Given the description of an element on the screen output the (x, y) to click on. 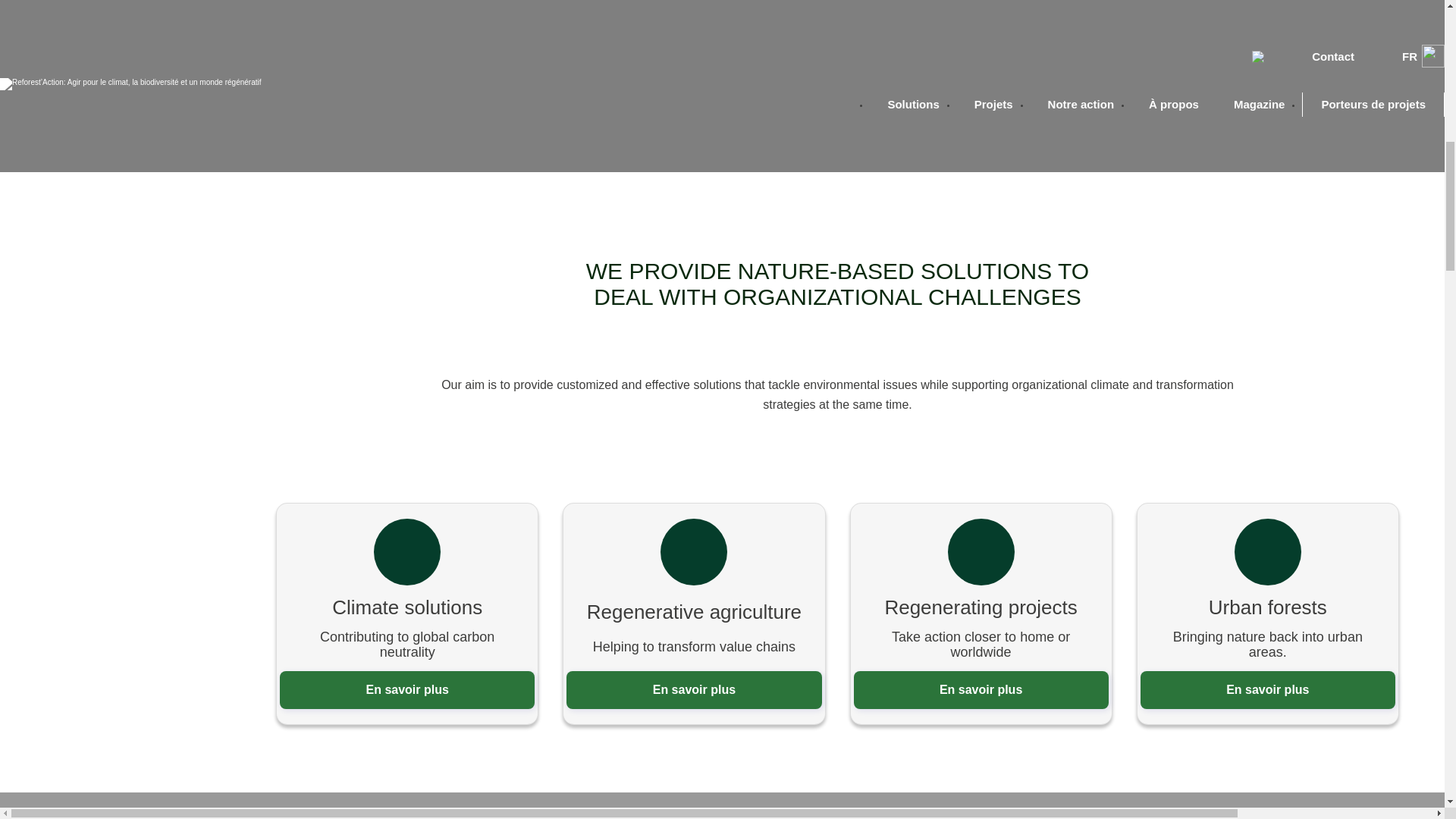
En savoir plus (693, 689)
En savoir plus (406, 689)
En savoir plus (1267, 689)
En savoir plus (980, 689)
